Given the description of an element on the screen output the (x, y) to click on. 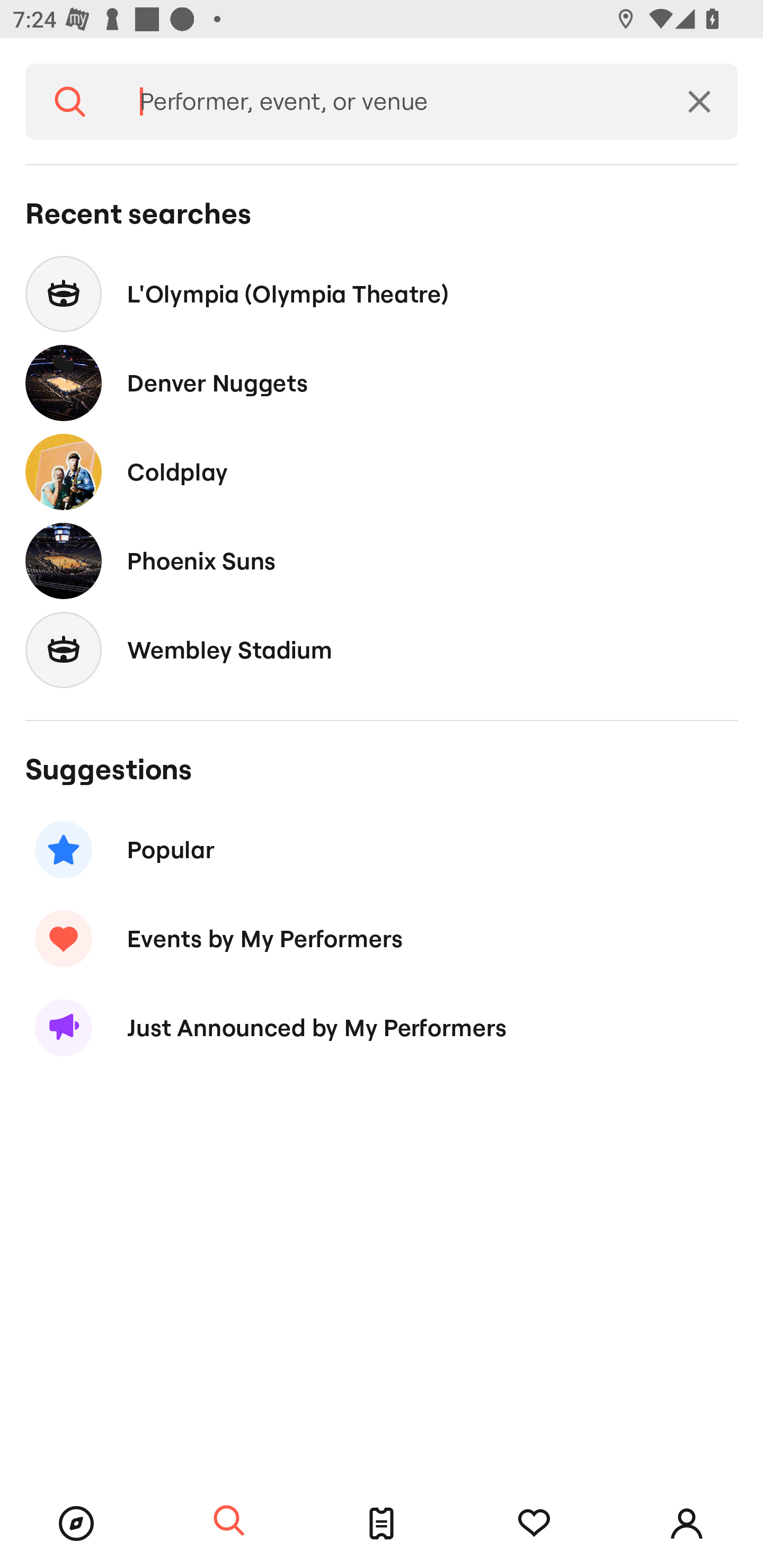
Search (69, 101)
Performer, event, or venue (387, 101)
Clear (699, 101)
L'Olympia (Olympia Theatre) (381, 293)
Denver Nuggets (381, 383)
Coldplay (381, 471)
Phoenix Suns (381, 560)
Wembley Stadium (381, 649)
Popular (381, 849)
Events by My Performers (381, 938)
Just Announced by My Performers (381, 1027)
Browse (76, 1523)
Search (228, 1521)
Tickets (381, 1523)
Tracking (533, 1523)
Account (686, 1523)
